Given the description of an element on the screen output the (x, y) to click on. 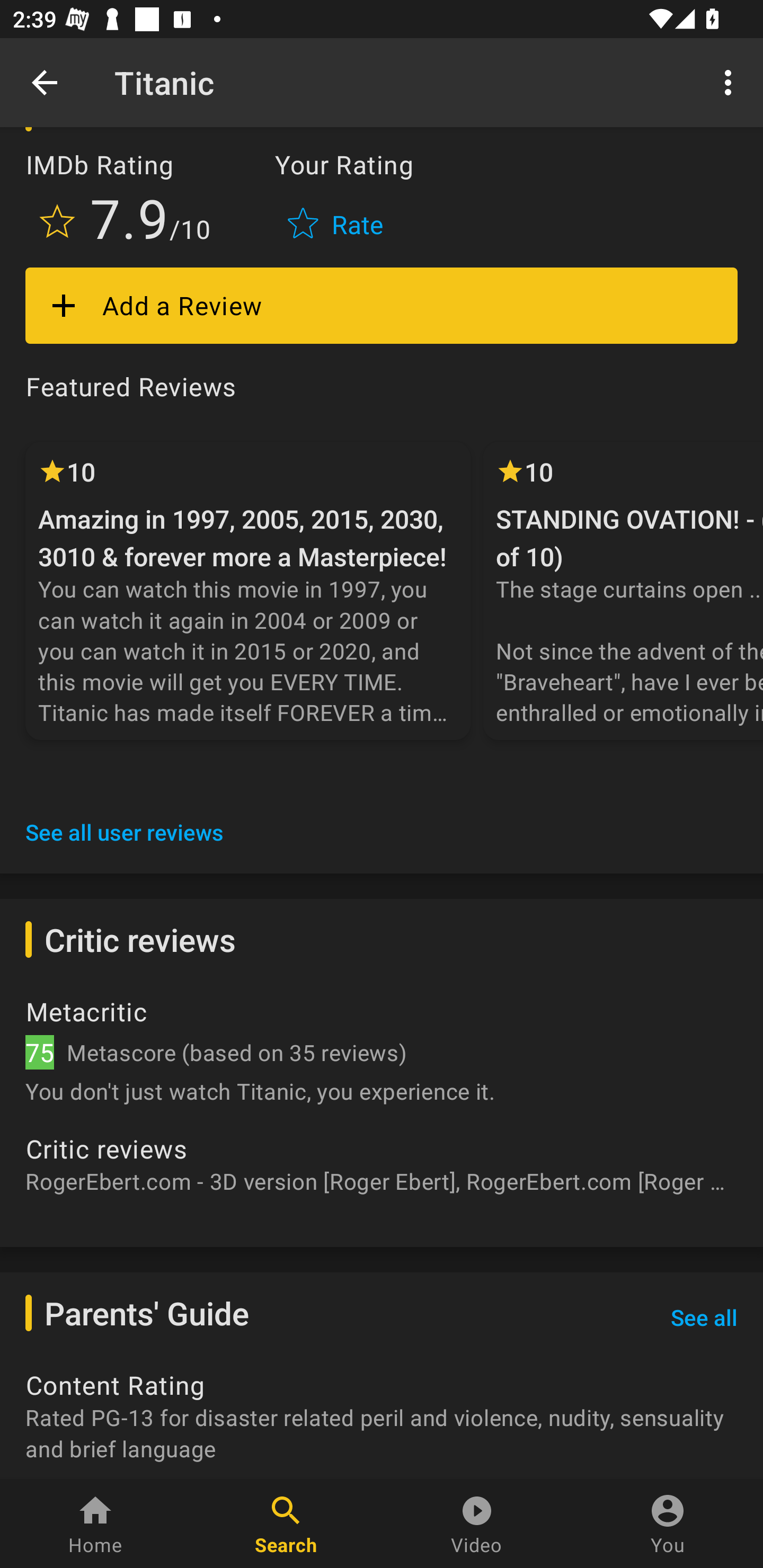
More options (731, 81)
Your Rating Rate (337, 200)
Add a Review (381, 305)
See all user reviews (124, 831)
See all See all  (703, 1317)
Home (95, 1523)
Video (476, 1523)
You (667, 1523)
